Given the description of an element on the screen output the (x, y) to click on. 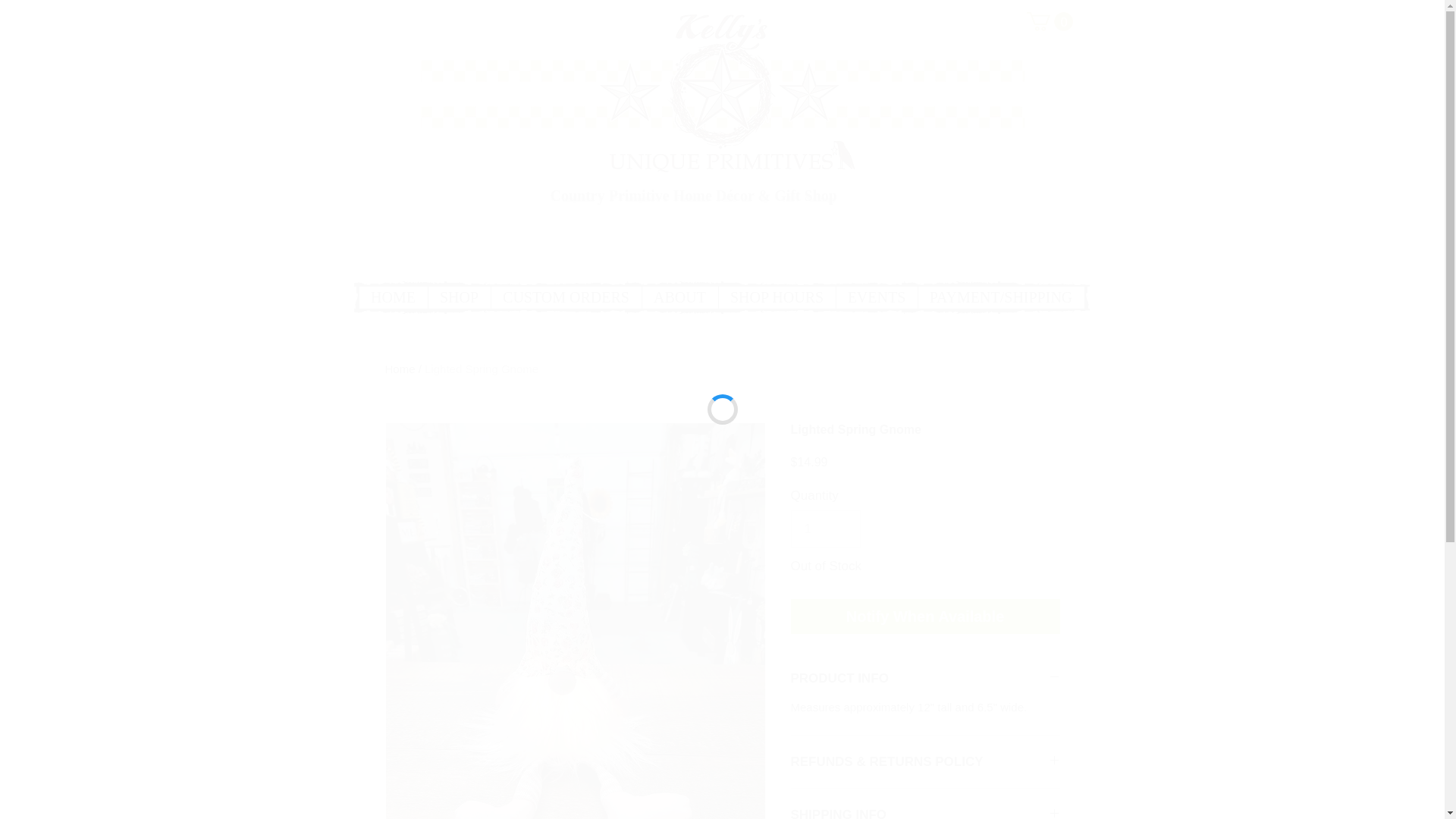
PRODUCT INFO (924, 678)
EVENTS (876, 297)
1 (825, 528)
Notify When Available (924, 615)
Lighted Spring Gnome (481, 368)
HOME (393, 297)
SHOP (459, 297)
CUSTOM ORDERS (564, 297)
0 (1049, 21)
0 (1049, 21)
ABOUT (679, 297)
Home (399, 368)
SHOP HOURS (775, 297)
